Given the description of an element on the screen output the (x, y) to click on. 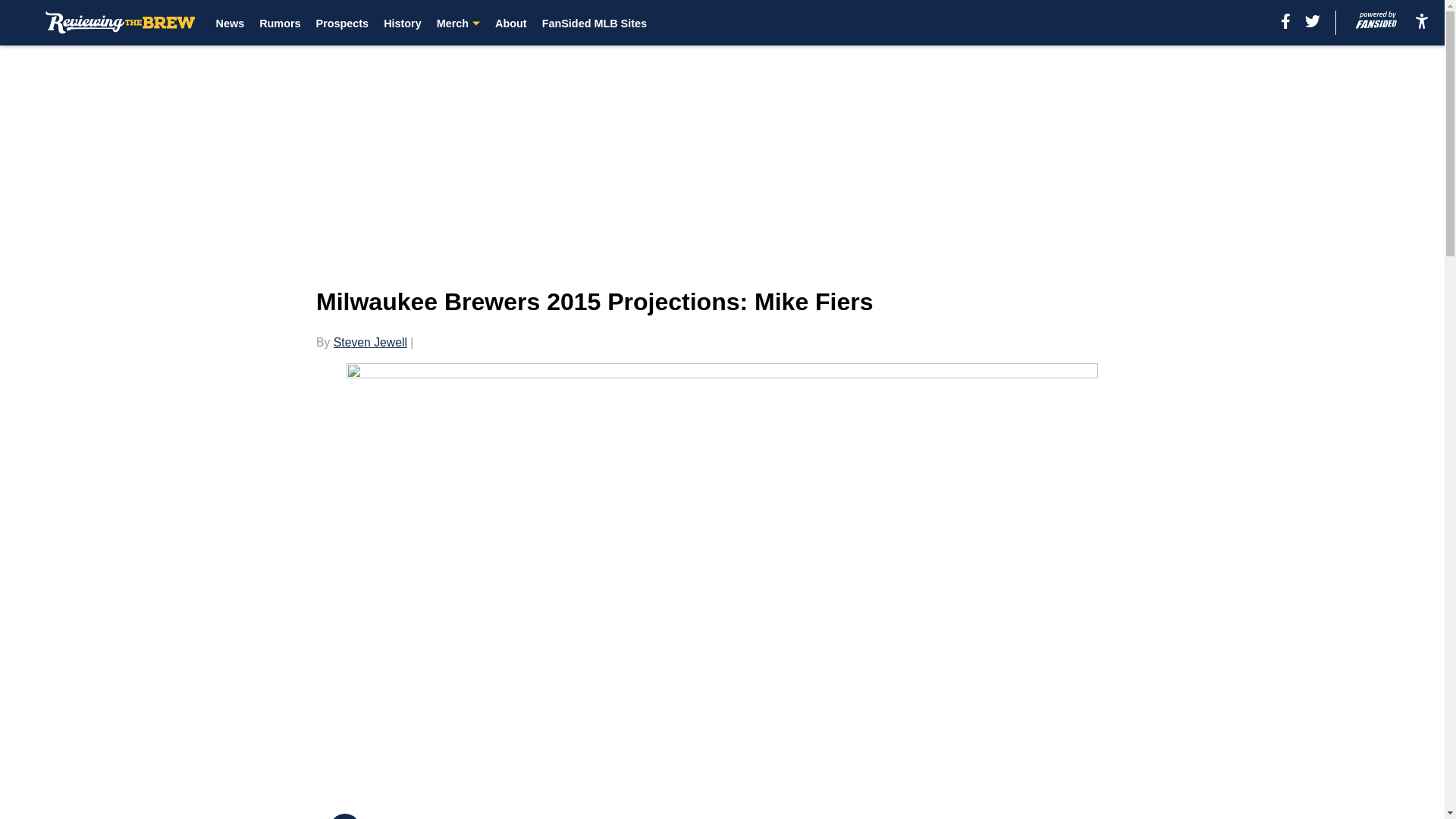
Steven Jewell (370, 341)
FanSided MLB Sites (593, 23)
History (403, 23)
About (511, 23)
Rumors (279, 23)
Prospects (342, 23)
News (229, 23)
